Given the description of an element on the screen output the (x, y) to click on. 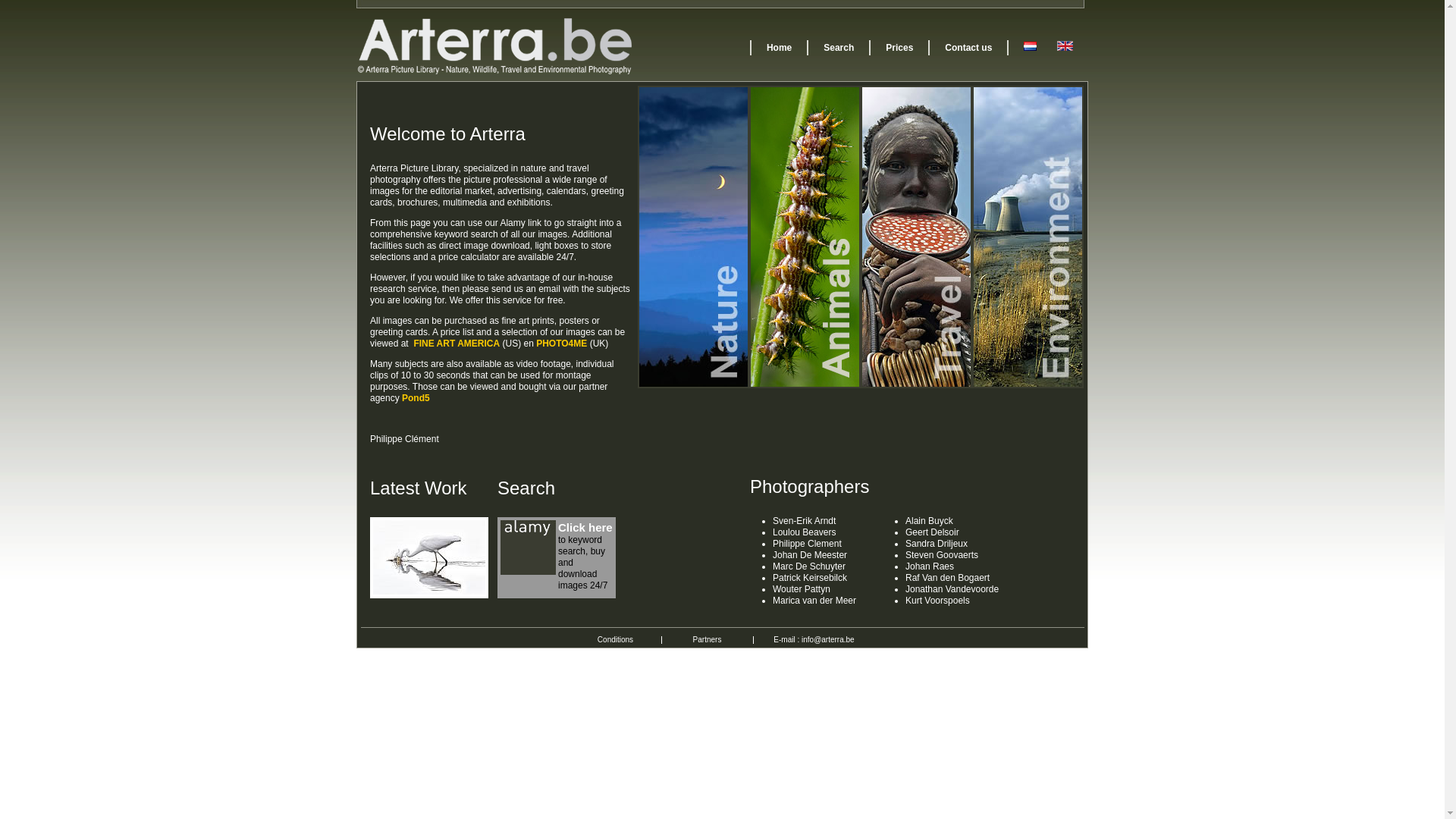
Click here Element type: text (585, 526)
Johan De Meester Element type: text (809, 554)
Marica van der Meer Element type: text (814, 600)
PHOTO4ME Element type: text (561, 343)
Patrick Keirsebilck Element type: text (809, 577)
Partners Element type: text (707, 639)
Home Element type: text (778, 47)
Pond5 Element type: text (415, 397)
Sven-Erik Arndt Element type: text (803, 520)
Prices Element type: text (899, 47)
Search Element type: text (838, 47)
FINE ART AMERICA Element type: text (456, 343)
Loulou Beavers Element type: text (803, 532)
Wouter Pattyn Element type: text (801, 588)
Philippe Clement Element type: text (806, 543)
Contact us Element type: text (967, 47)
Marc De Schuyter Element type: text (808, 566)
Conditions Element type: text (615, 639)
info@arterra.be Element type: text (827, 639)
